Given the description of an element on the screen output the (x, y) to click on. 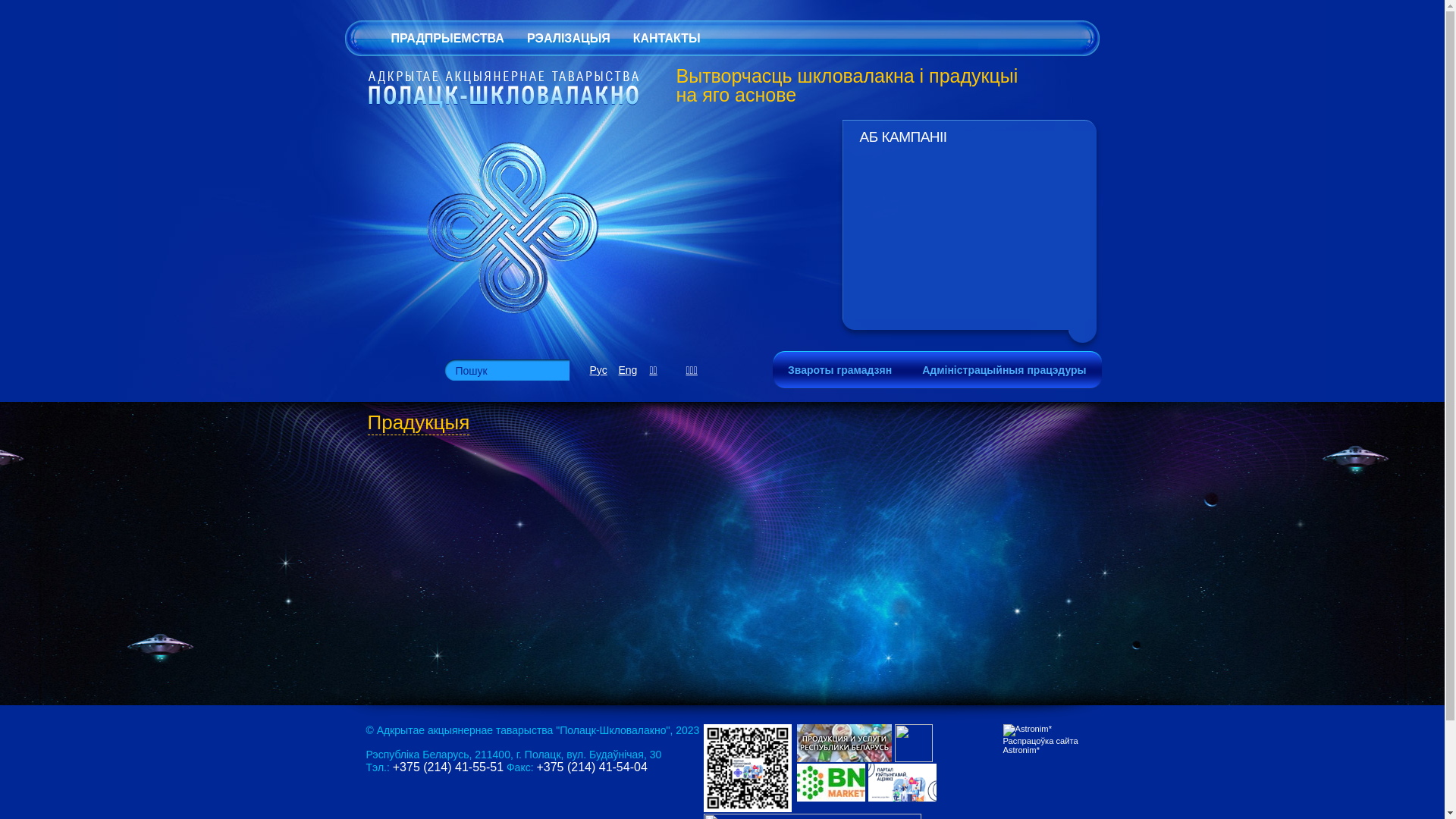
Astronim* Element type: hover (1026, 730)
Eng Element type: text (627, 370)
